Given the description of an element on the screen output the (x, y) to click on. 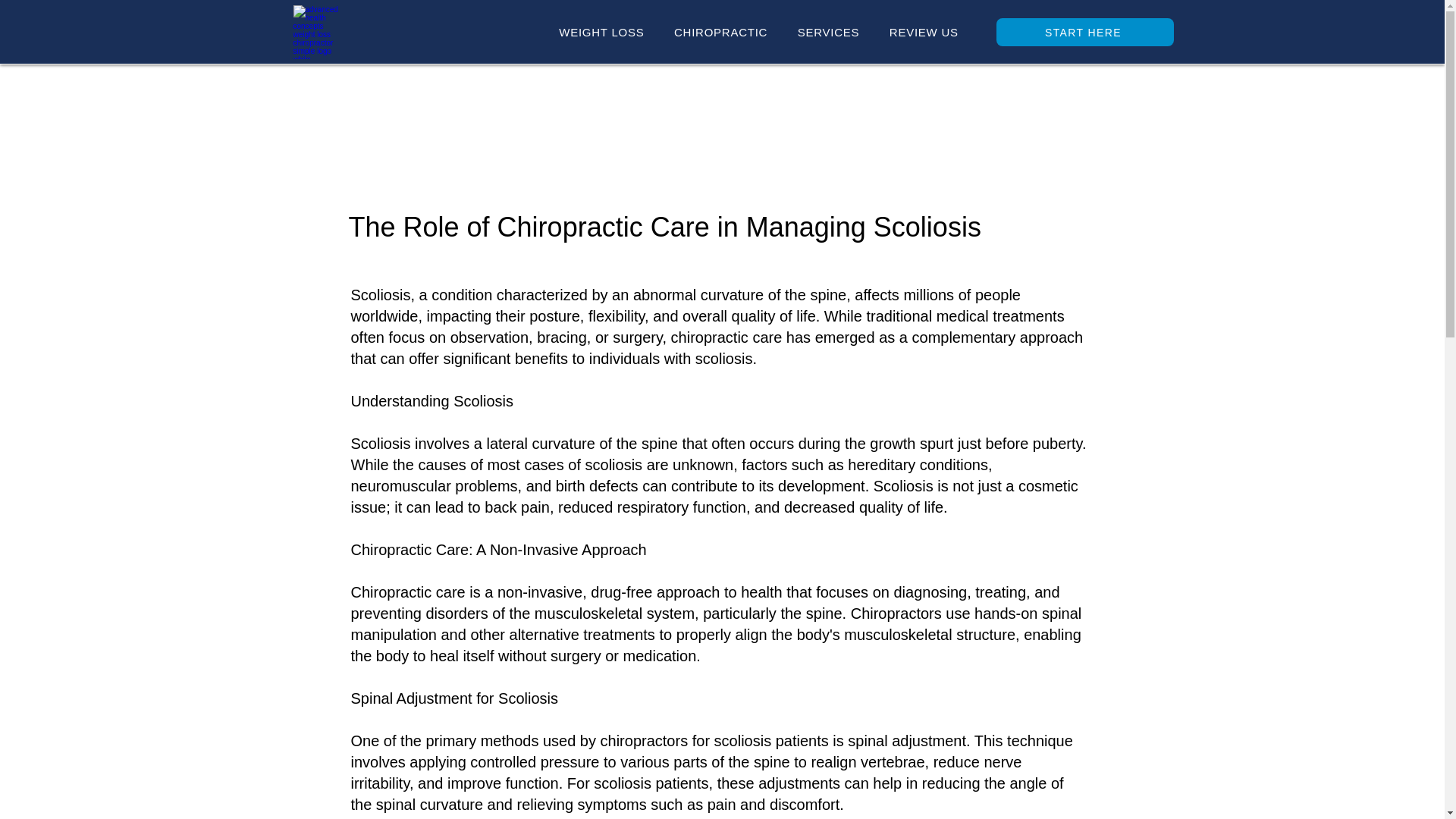
WEIGHT LOSS (601, 31)
START HERE (1084, 31)
SERVICES (828, 31)
REVIEW US (923, 31)
The Role of Chiropractic Care in Managing Scoliosis (665, 226)
CHIROPRACTIC (720, 31)
